Given the description of an element on the screen output the (x, y) to click on. 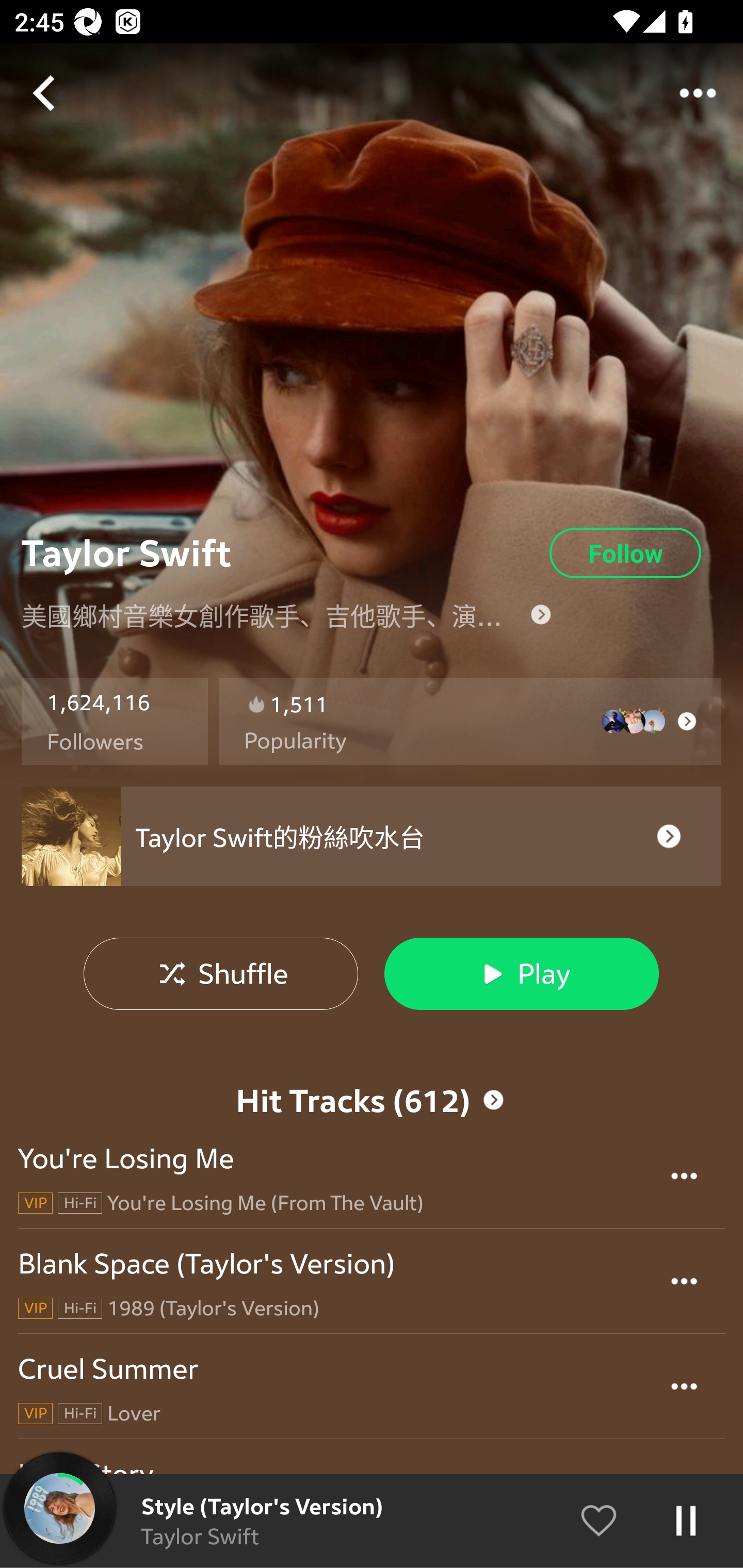
Follow (625, 553)
1,511 Popularity (469, 721)
Popularity (294, 740)
Taylor Swift的粉絲吹水台 (371, 836)
Shuffle (220, 973)
Play (521, 973)
Hit Tracks (612) (371, 1065)
Hit Tracks (612) (371, 1099)
Cruel Summer VIP Hi-Fi Lover (371, 1386)
Style (Taylor's Version) Taylor Swift (371, 1520)
